Given the description of an element on the screen output the (x, y) to click on. 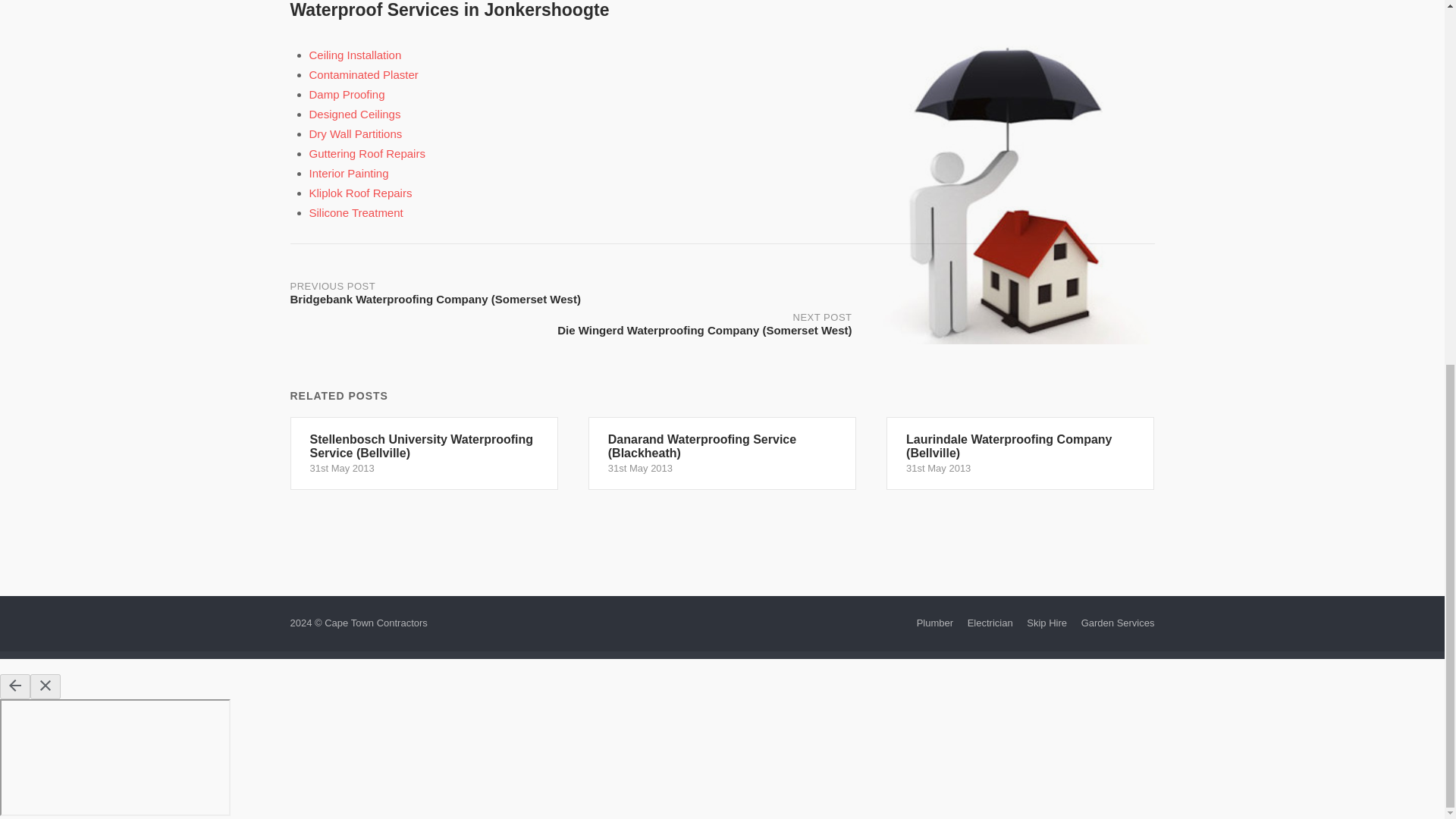
Ceiling Installation (354, 54)
Kliplok Roof Repairs (360, 192)
Dry Wall Partitions (355, 133)
Kliplok Roof Repairs (360, 192)
Damp Proofing (346, 93)
Skip Hire (1046, 622)
Contaminated Plaster (363, 74)
Damp Proofing (346, 93)
Guttering Roof Repairs (366, 153)
Contaminated Plaster (363, 74)
Silicone Treatment (355, 212)
Electrician (990, 622)
Ceiling Installation (354, 54)
Garden Services (1117, 622)
Interior Painting (348, 173)
